Given the description of an element on the screen output the (x, y) to click on. 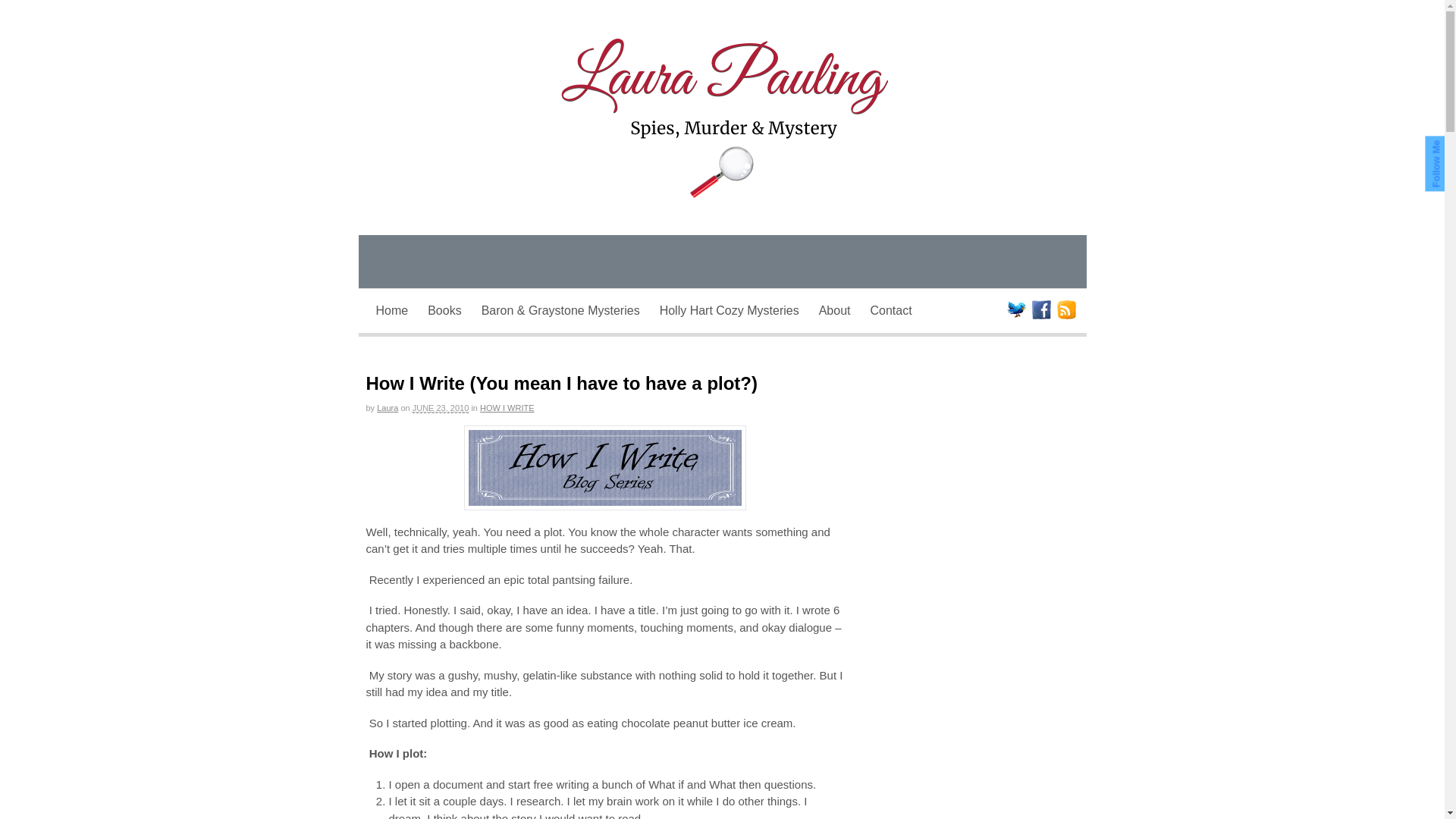
Laura's Facebook Page (1039, 310)
HOW I WRITE (507, 407)
Follow Laura on Twitter (1016, 310)
Laura (387, 407)
Contact (889, 310)
About (834, 310)
How-I-Write2-banner (604, 467)
RSS Feed (1066, 310)
Posts by Laura (387, 407)
Holly Hart Cozy Mysteries (729, 310)
Books (444, 310)
Home (392, 310)
